Given the description of an element on the screen output the (x, y) to click on. 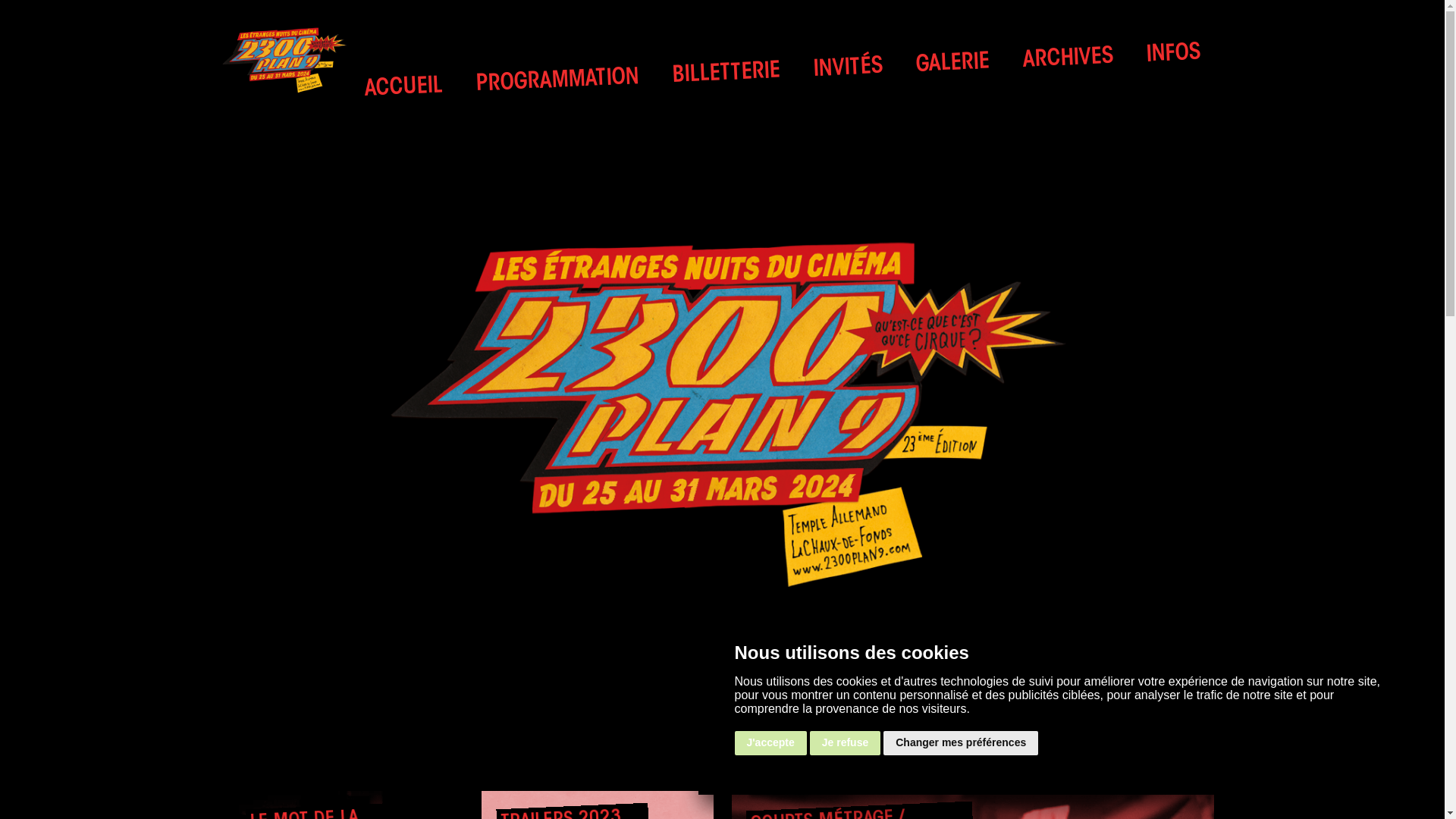
ARCHIVES Element type: text (1067, 57)
GALERIE Element type: text (951, 62)
ACCUEIL Element type: text (403, 86)
J'accepte Element type: text (770, 743)
BILLETTERIE Element type: text (725, 71)
INFOS Element type: text (1172, 53)
Je refuse Element type: text (844, 743)
PROGRAMMATION Element type: text (556, 77)
image Element type: hover (721, 412)
